Given the description of an element on the screen output the (x, y) to click on. 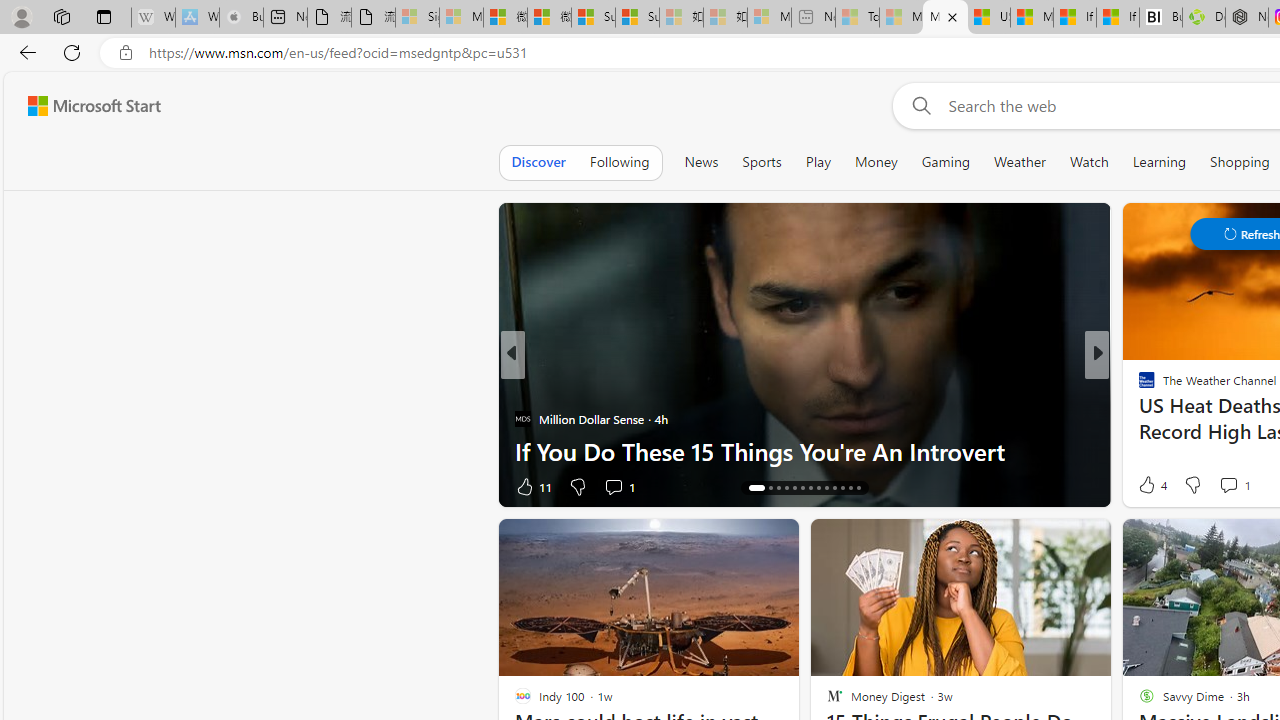
View comments 2 Comment (1234, 486)
AutomationID: tab-18 (793, 487)
516 Like (1151, 486)
The Cool Down (1138, 386)
311 Like (1151, 486)
View comments 5 Comment (1234, 486)
BBC (1138, 386)
AutomationID: tab-16 (778, 487)
If You Do These 15 Things You're An Introvert (804, 450)
